Given the description of an element on the screen output the (x, y) to click on. 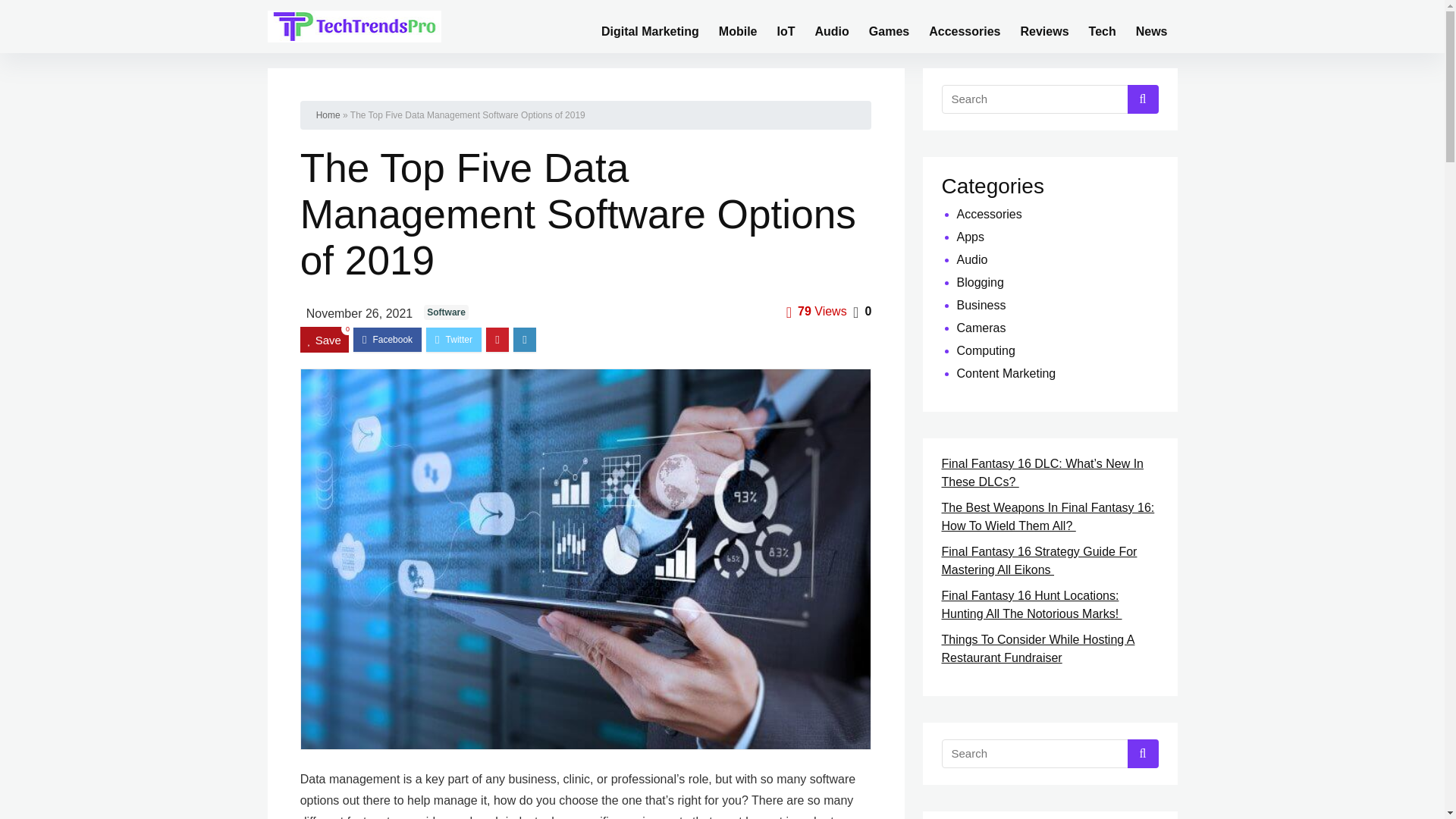
Mobile (738, 25)
Digital Marketing (650, 25)
News (1151, 25)
Audio (832, 25)
IoT (786, 25)
Reviews (1044, 25)
Games (888, 25)
Home (327, 114)
Accessories (964, 25)
Software (445, 312)
Tech (1101, 25)
